Given the description of an element on the screen output the (x, y) to click on. 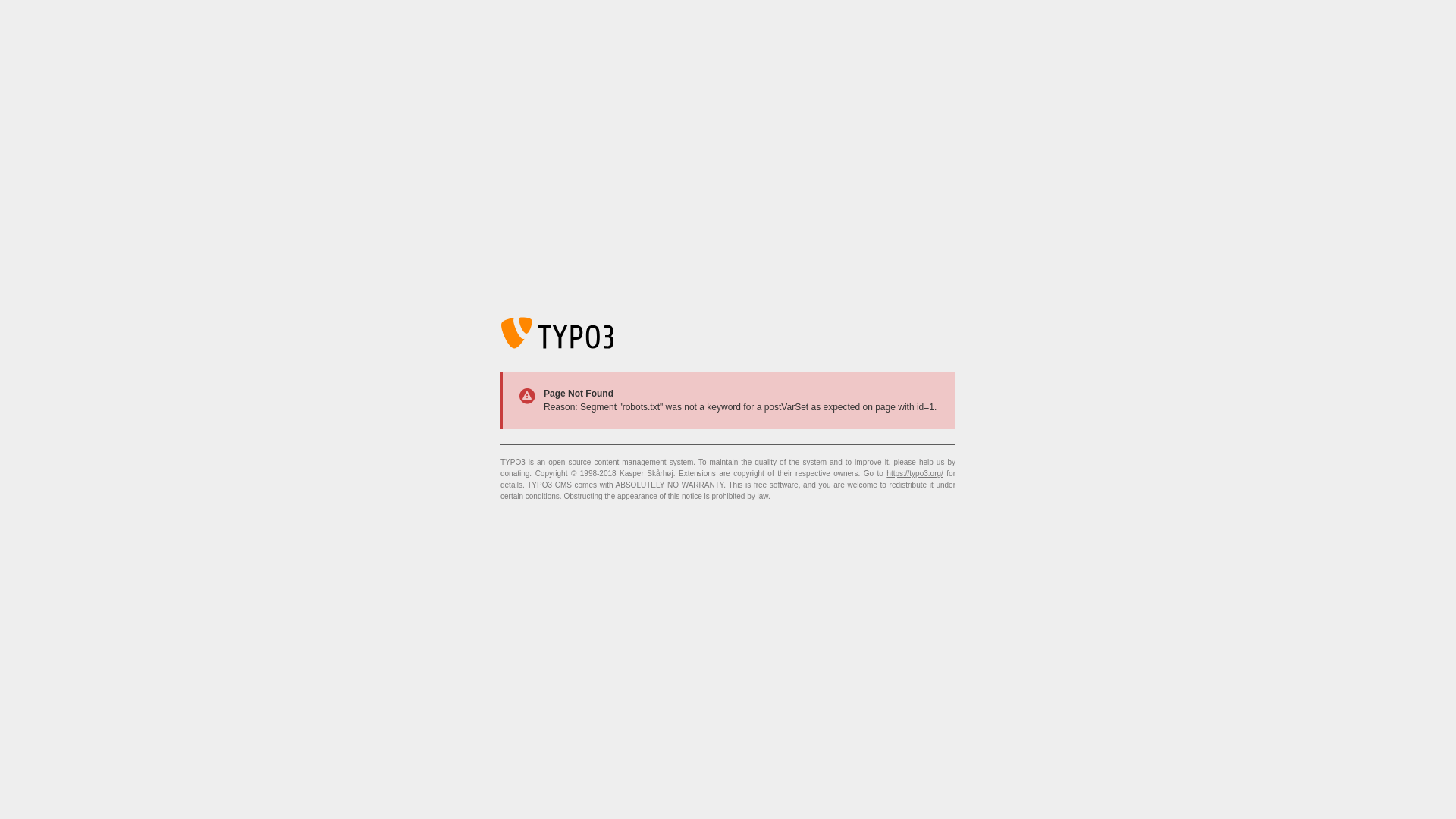
https://typo3.org/ Element type: text (914, 473)
